Given the description of an element on the screen output the (x, y) to click on. 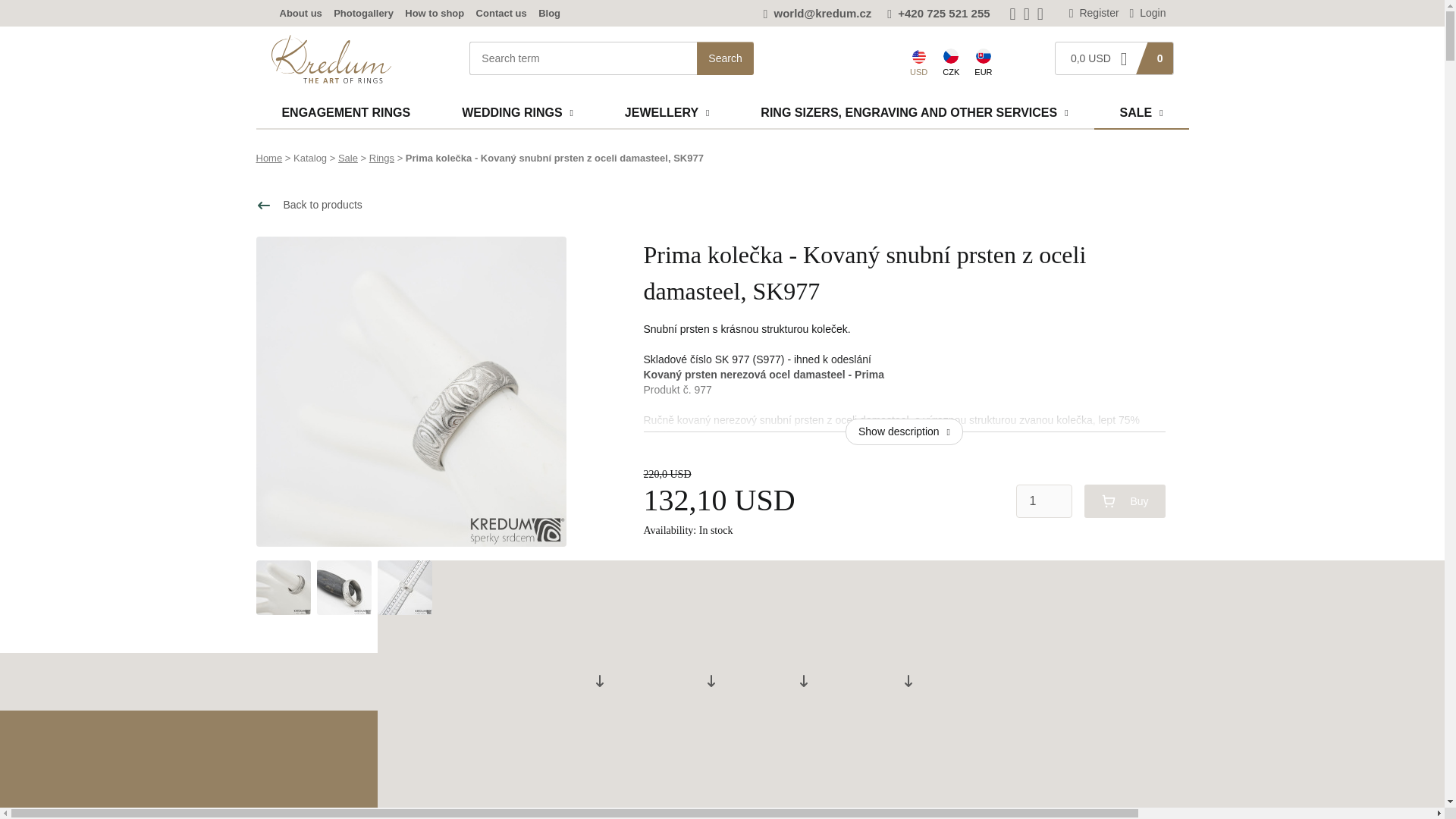
Contact us (501, 13)
Photogallery (363, 13)
1 (1043, 500)
EUR (982, 61)
Wedding rings (516, 108)
CZK (950, 61)
About us (300, 13)
Search (724, 58)
Blog (549, 13)
How to shop (434, 13)
